Given the description of an element on the screen output the (x, y) to click on. 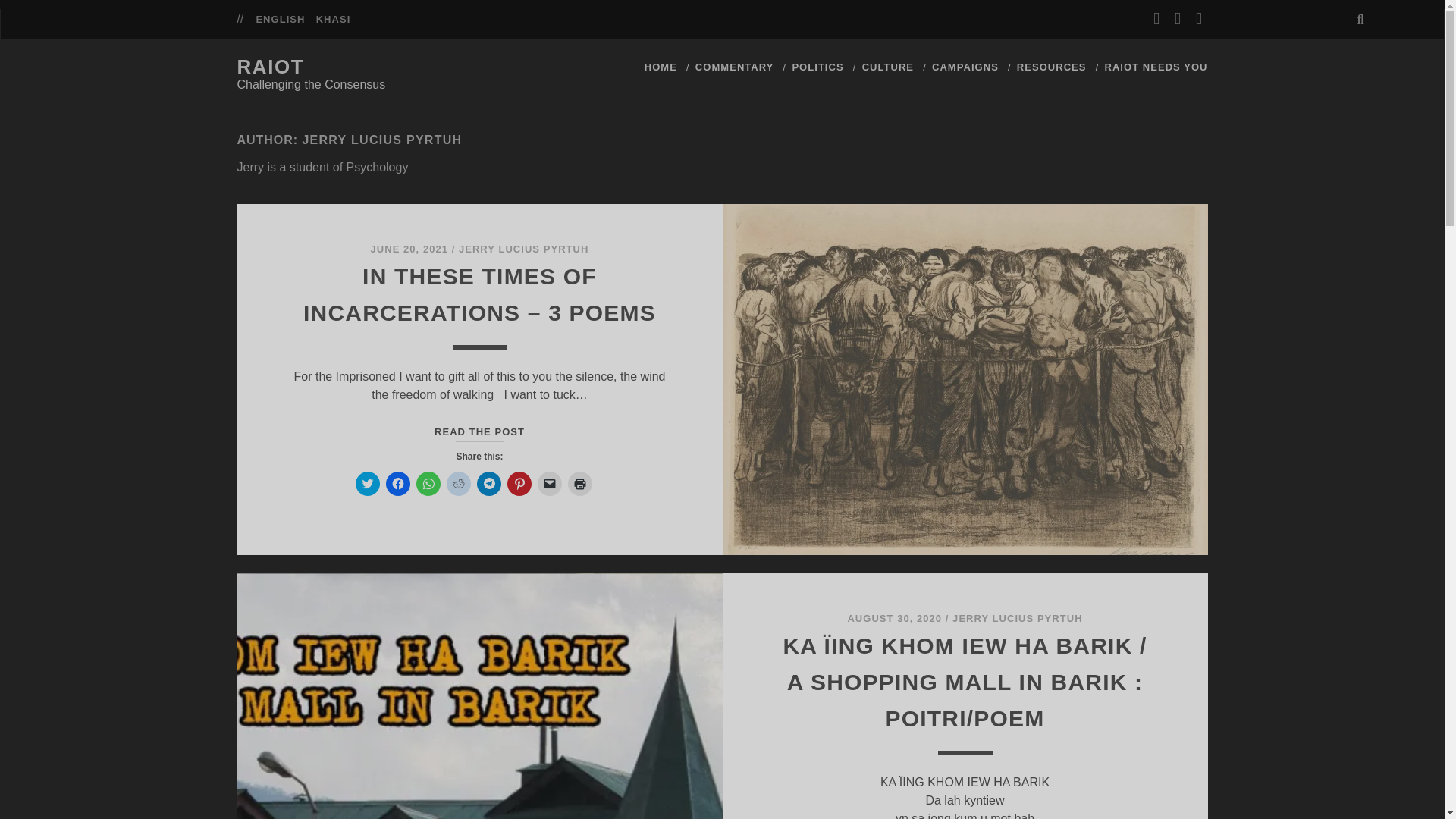
Click to share on Pinterest (518, 483)
RAIOT NEEDS YOU (1155, 67)
Click to share on Reddit (457, 483)
Posts by Jerry Lucius Pyrtuh (523, 248)
JERRY LUCIUS PYRTUH (1016, 618)
JERRY LUCIUS PYRTUH (523, 248)
Click to share on Facebook (397, 483)
Click to share on Telegram (488, 483)
Click to share on WhatsApp (426, 483)
Click to share on Twitter (366, 483)
ENGLISH (280, 19)
Click to print (579, 483)
POLITICS (817, 67)
KHASI (332, 19)
Posts by Jerry Lucius Pyrtuh (1016, 618)
